Given the description of an element on the screen output the (x, y) to click on. 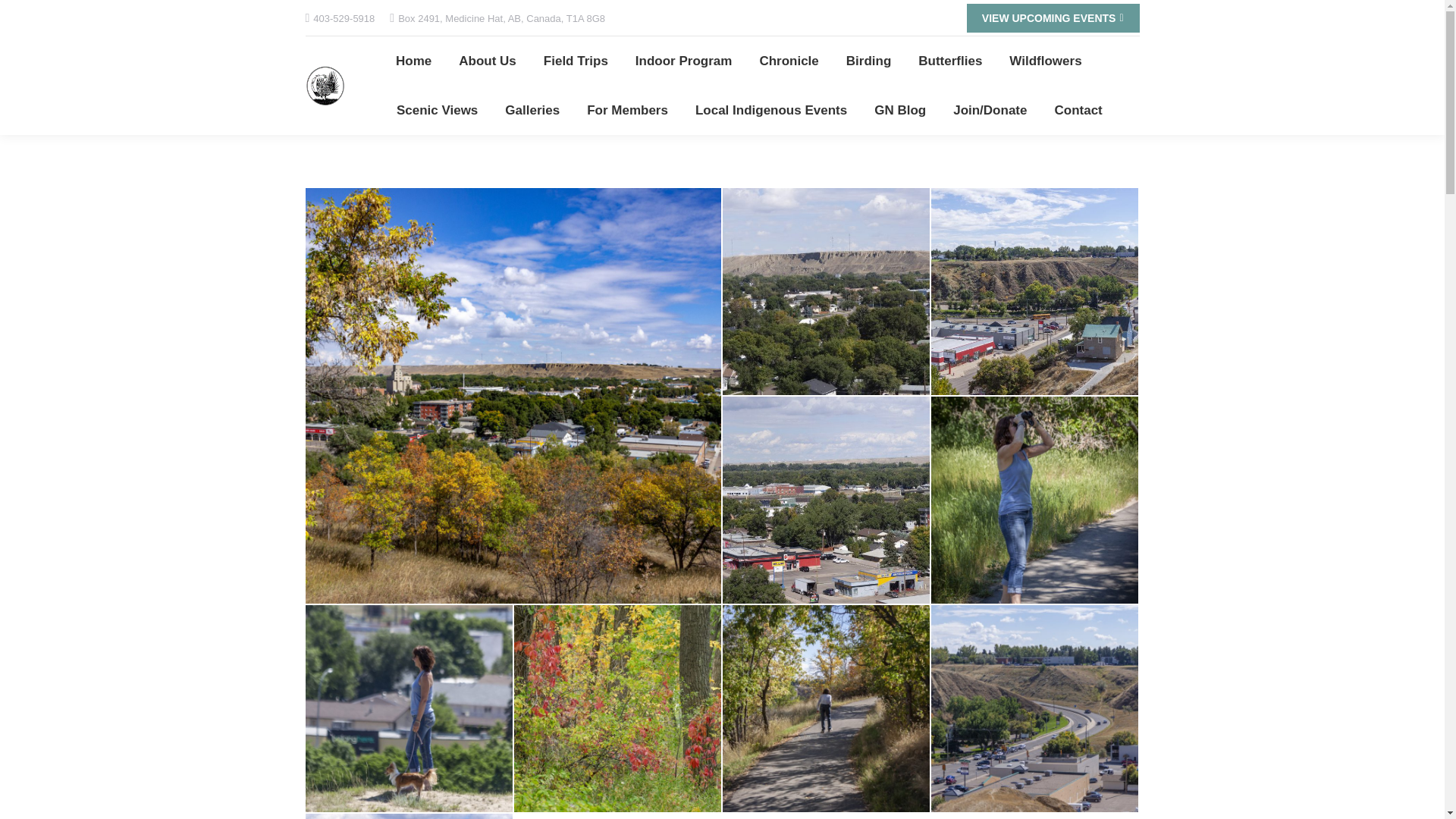
Centre River Flats (826, 292)
Wildflowers (1045, 60)
South River Flats, Ogilvie Flour Mill (1035, 292)
Contact (1078, 110)
Field Trips (575, 60)
Bird Watching Delight (1034, 499)
Bird Watching Delight (1035, 500)
Scenic Views (436, 110)
For Members (627, 110)
VIEW UPCOMING EVENTS (1053, 18)
GN Blog (899, 110)
Galleries (532, 110)
Indoor Program (683, 60)
